Given the description of an element on the screen output the (x, y) to click on. 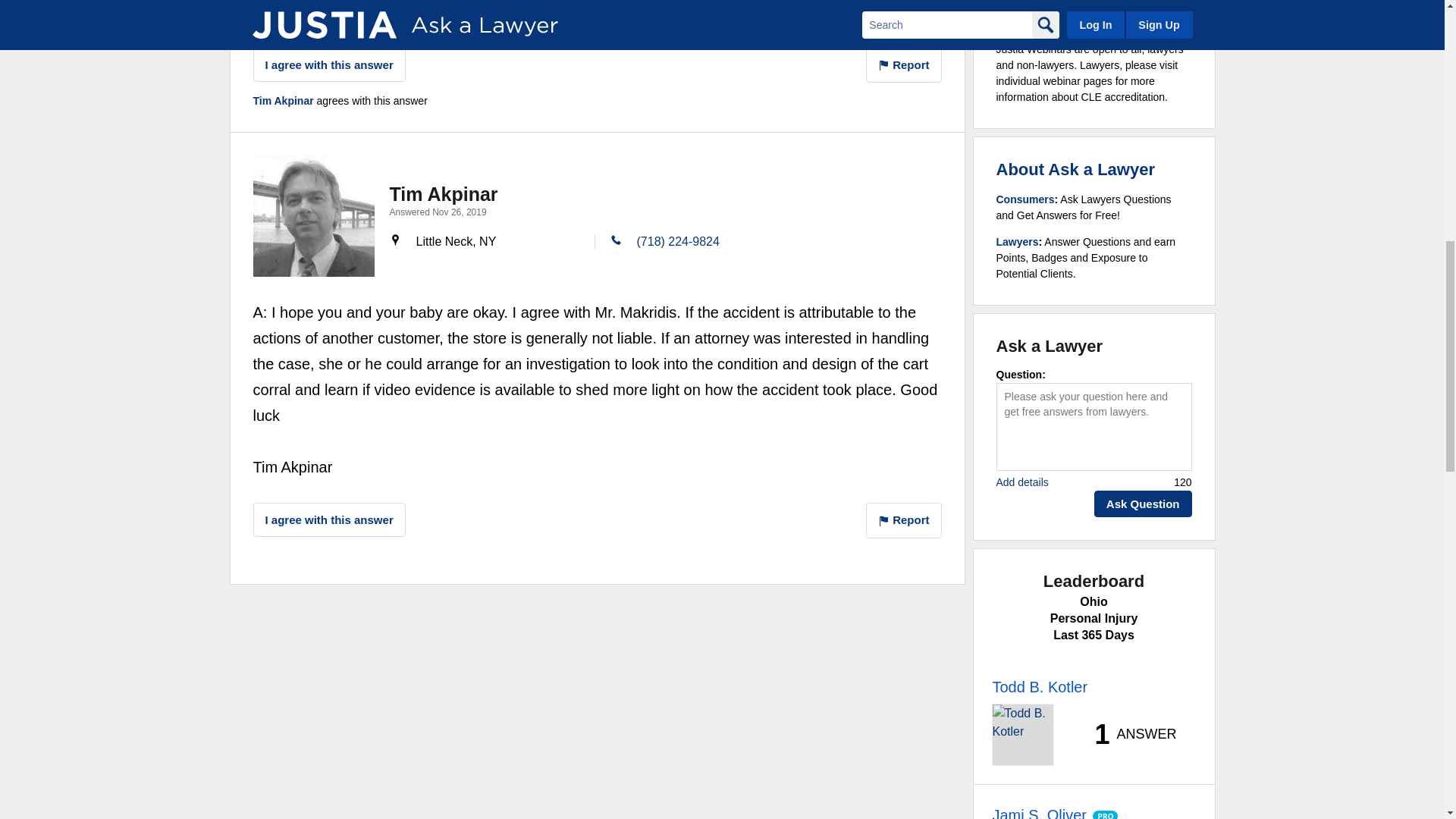
Ask a Lawyer - Leaderboard - Lawyer Photo (1021, 734)
Ask a Lawyer - FAQs - Consumers (1024, 199)
Ask a Lawyer - Leaderboard - Lawyer Stats (1127, 734)
Ask a Lawyer - Leaderboard - Lawyer Name (1038, 811)
Report (904, 65)
Ask a Lawyer - Leaderboard - Lawyer Name (1039, 686)
Ask a Lawyer - FAQs - Lawyers (1017, 241)
Tim Akpinar (313, 215)
I agree with this answer (329, 64)
